Given the description of an element on the screen output the (x, y) to click on. 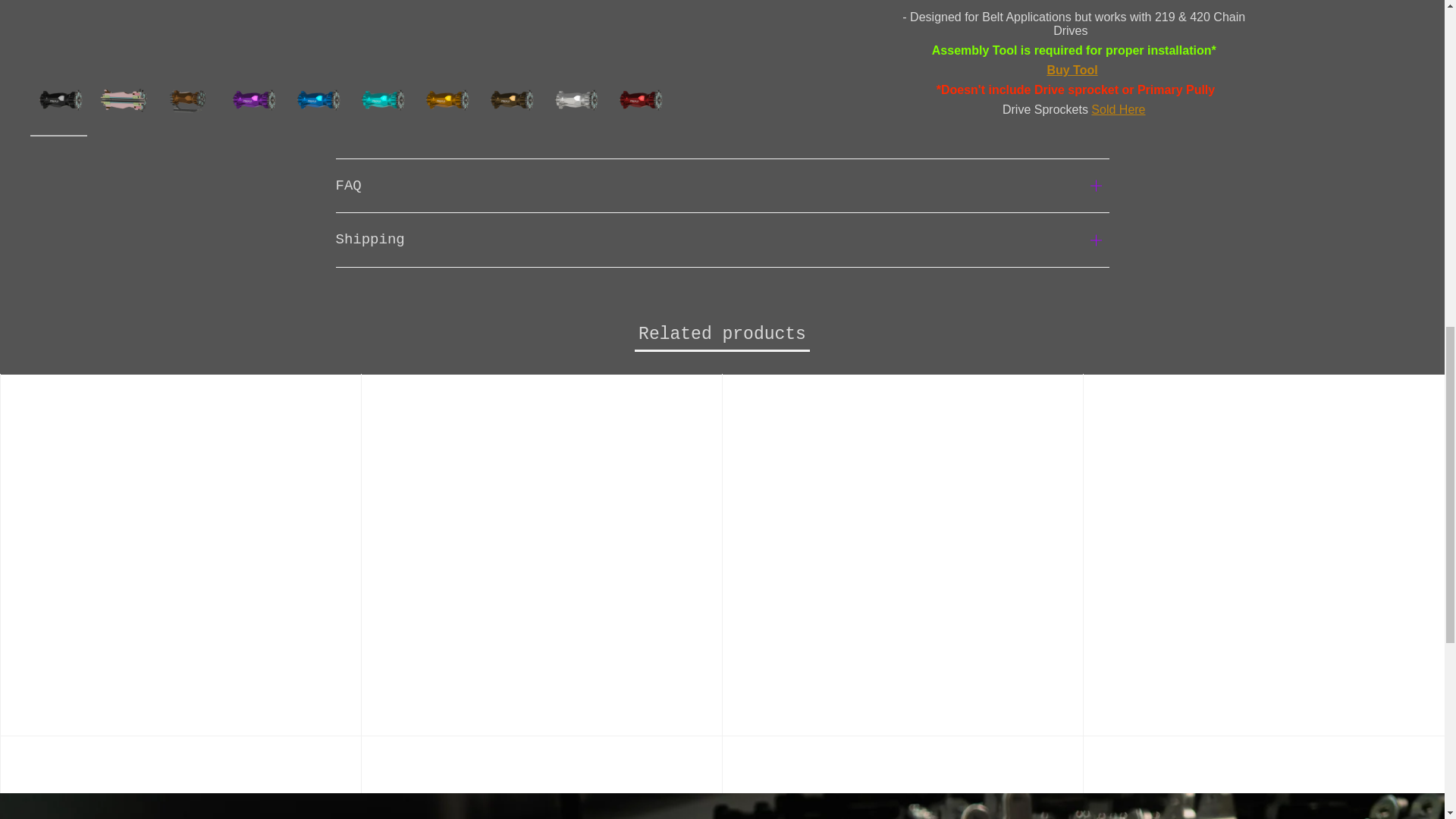
jackshaft tool (1071, 14)
